Given the description of an element on the screen output the (x, y) to click on. 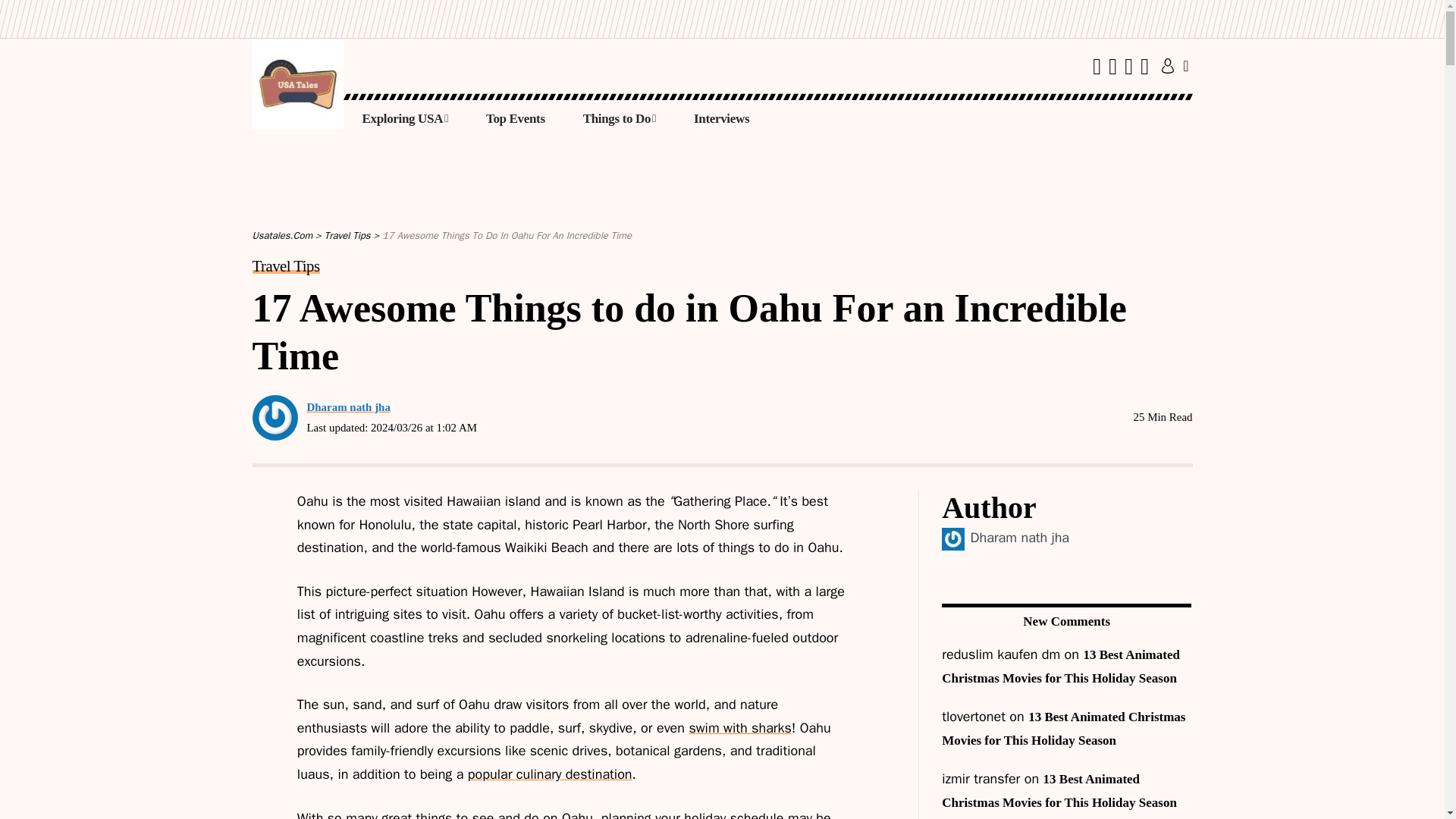
Go to usatales.com. (282, 235)
Dharam nath jha (1019, 537)
Go to the Travel Tips Category archives. (347, 235)
Exploring USA (404, 118)
